Given the description of an element on the screen output the (x, y) to click on. 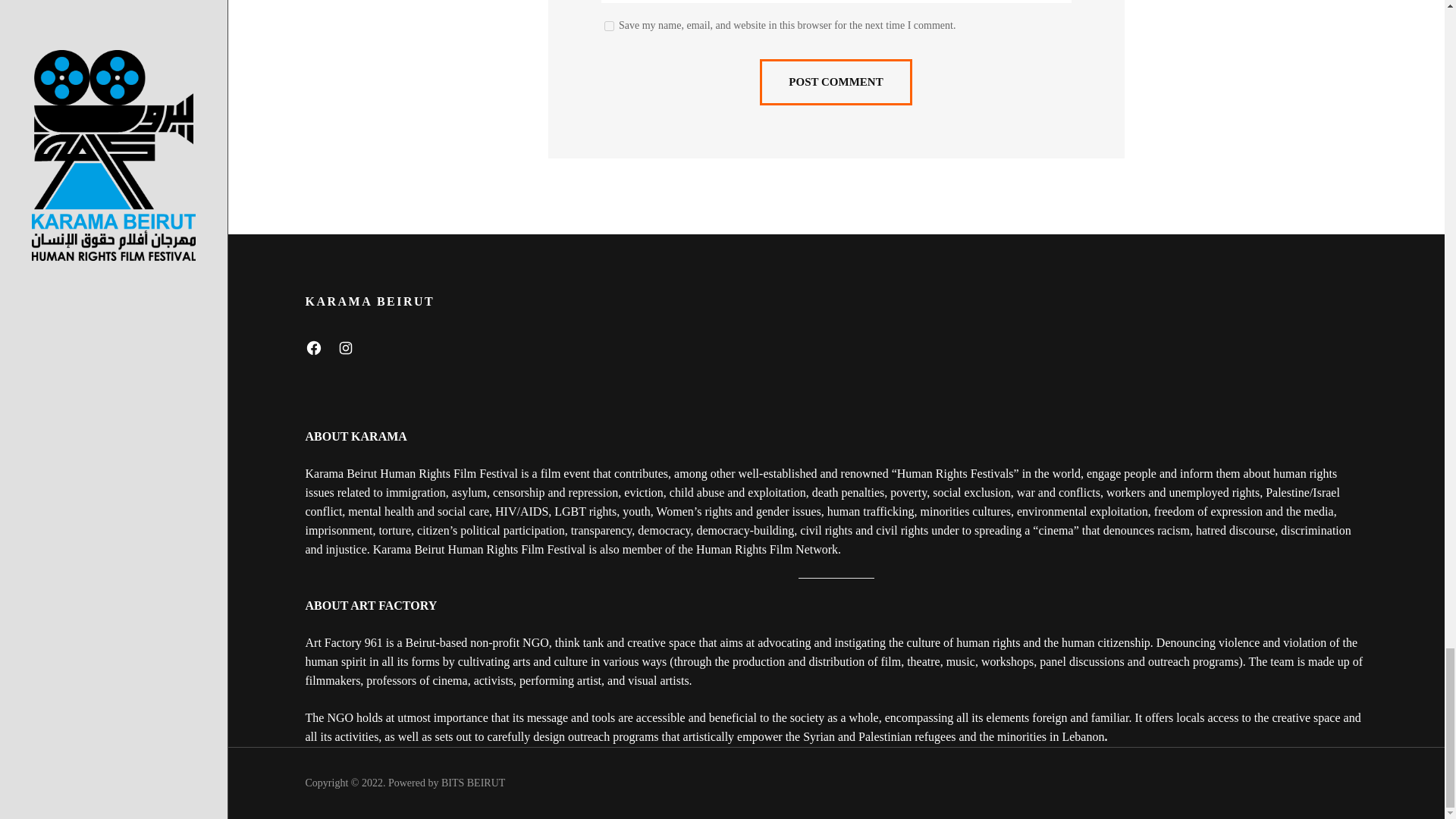
Post Comment (836, 81)
Instagram (345, 347)
Facebook (313, 347)
BITS BEIRUT (473, 782)
Post Comment (836, 81)
